Given the description of an element on the screen output the (x, y) to click on. 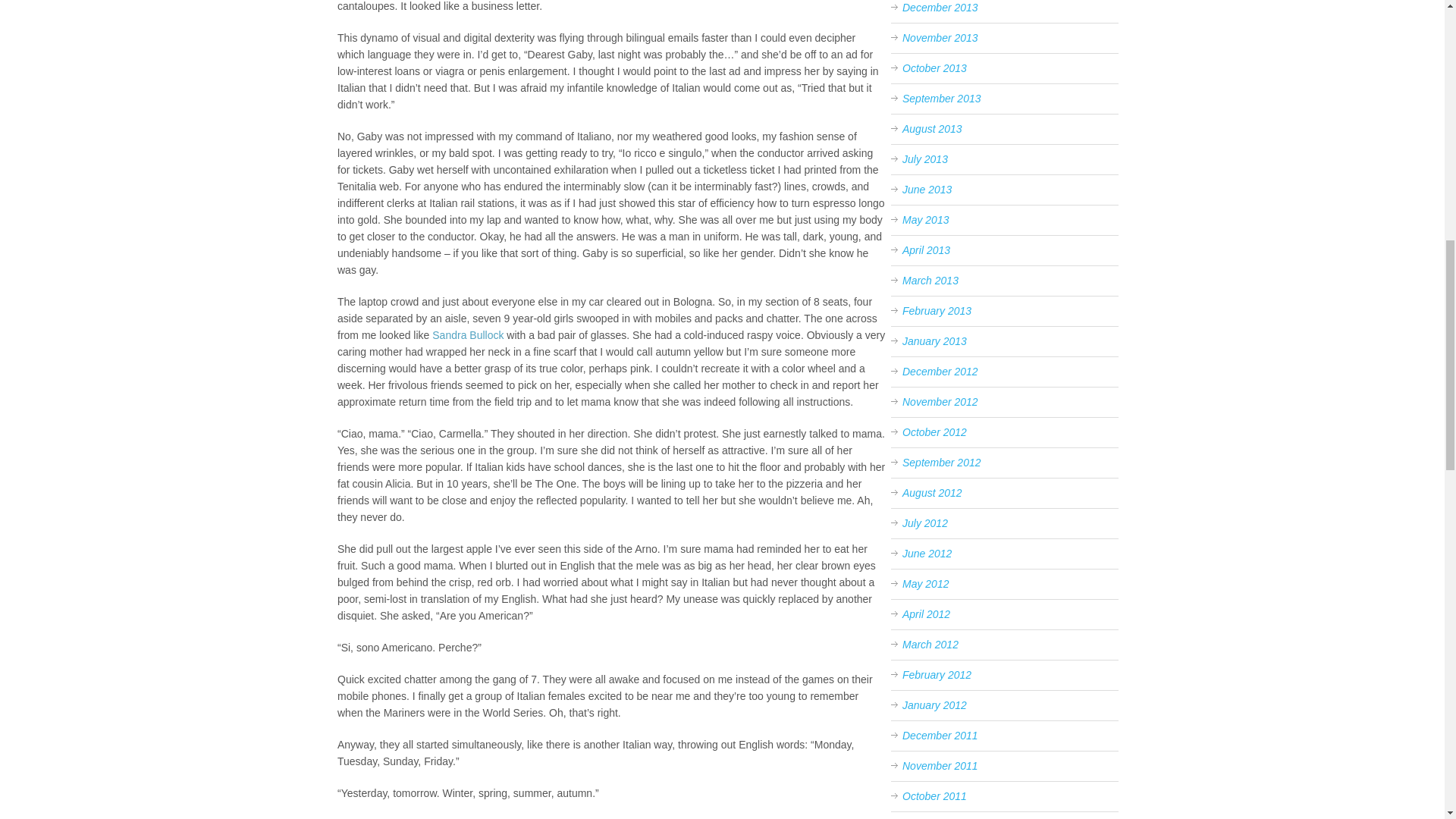
Sandra Bullock (467, 335)
Sandra Bullock (467, 335)
